Given the description of an element on the screen output the (x, y) to click on. 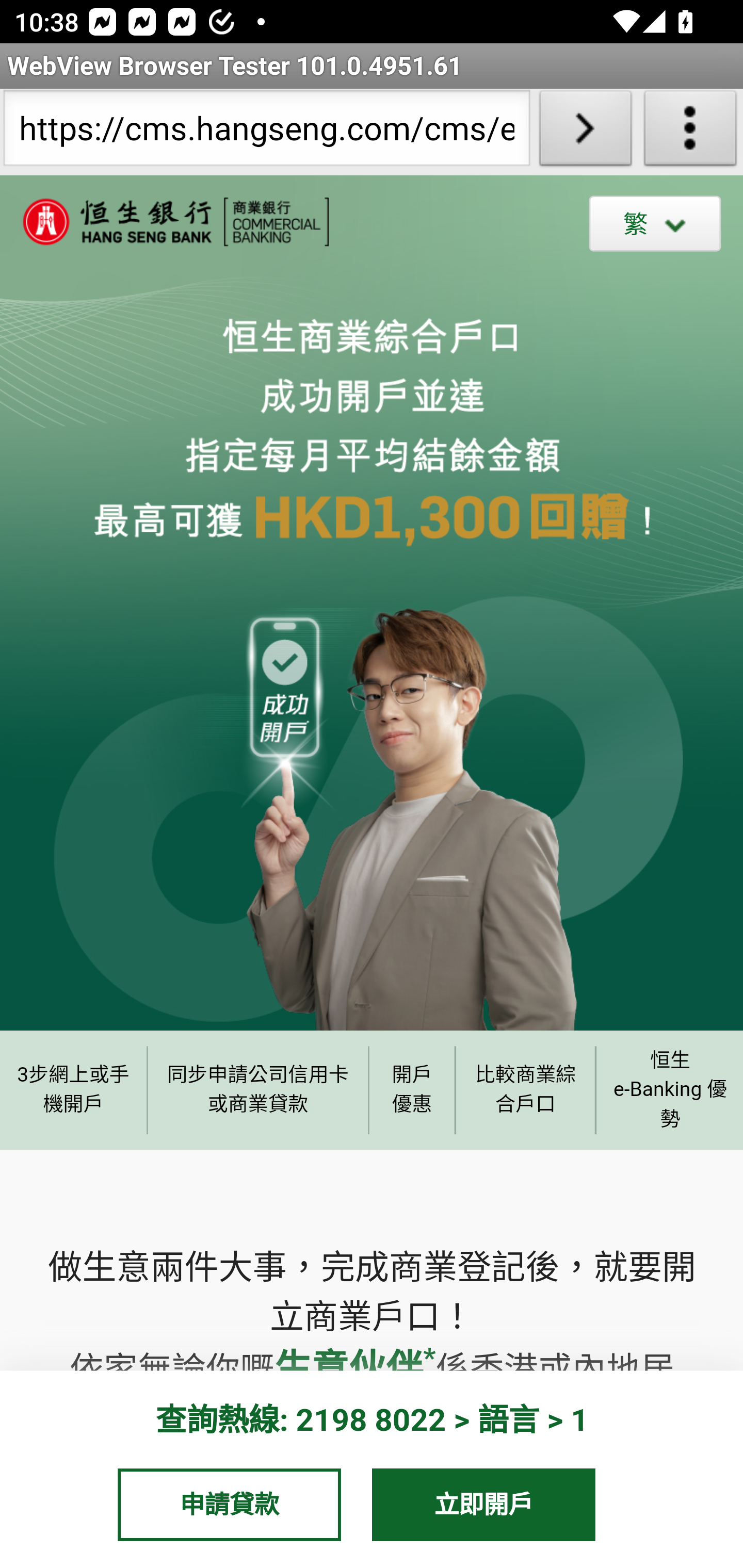
Load URL (585, 132)
About WebView (690, 132)
home (164, 222)
繁  繁    (655, 223)
恒生e‑Banking 優勢 (669, 1089)
3步網上或手機開戶 (73, 1089)
同步申請公司信用卡或商業貸款 (257, 1089)
開戶優惠 (411, 1089)
比較商業綜合戶口 (525, 1089)
申請貸款 (229, 1504)
立即開戶 (484, 1504)
